Given the description of an element on the screen output the (x, y) to click on. 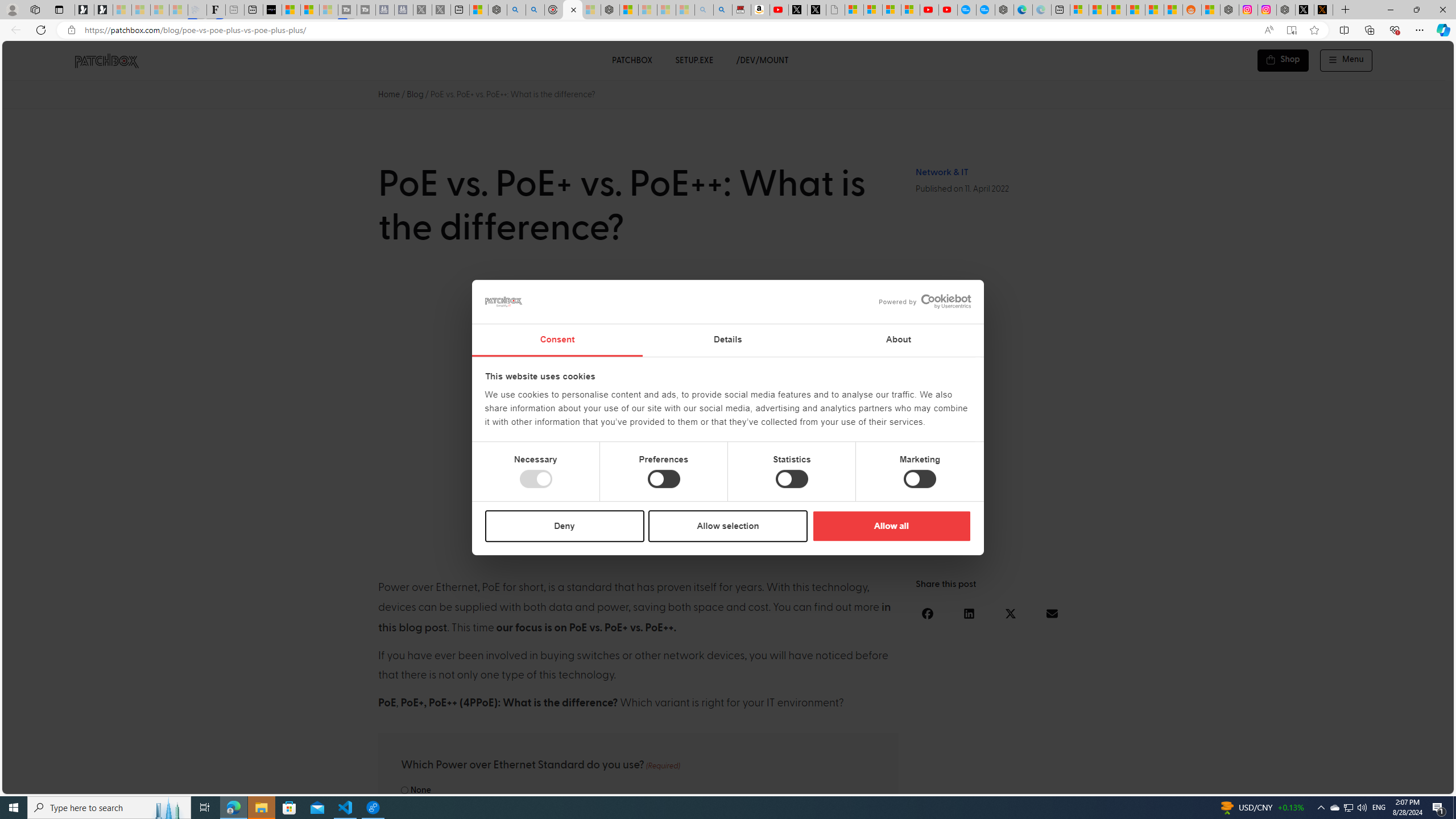
Language switcher : Czech (1413, 782)
Language switcher : Norwegian (1288, 782)
Enter Immersive Reader (F9) (1291, 29)
help.x.com | 524: A timeout occurred (1323, 9)
Language switcher : Swedish (1356, 782)
Necessary (535, 479)
PATCHBOX (631, 60)
Nordace (@NordaceOfficial) / X (1304, 9)
Allow selection (727, 525)
Language switcher : Slovak (1345, 782)
Day 1: Arriving in Yemen (surreal to be here) - YouTube (778, 9)
